Given the description of an element on the screen output the (x, y) to click on. 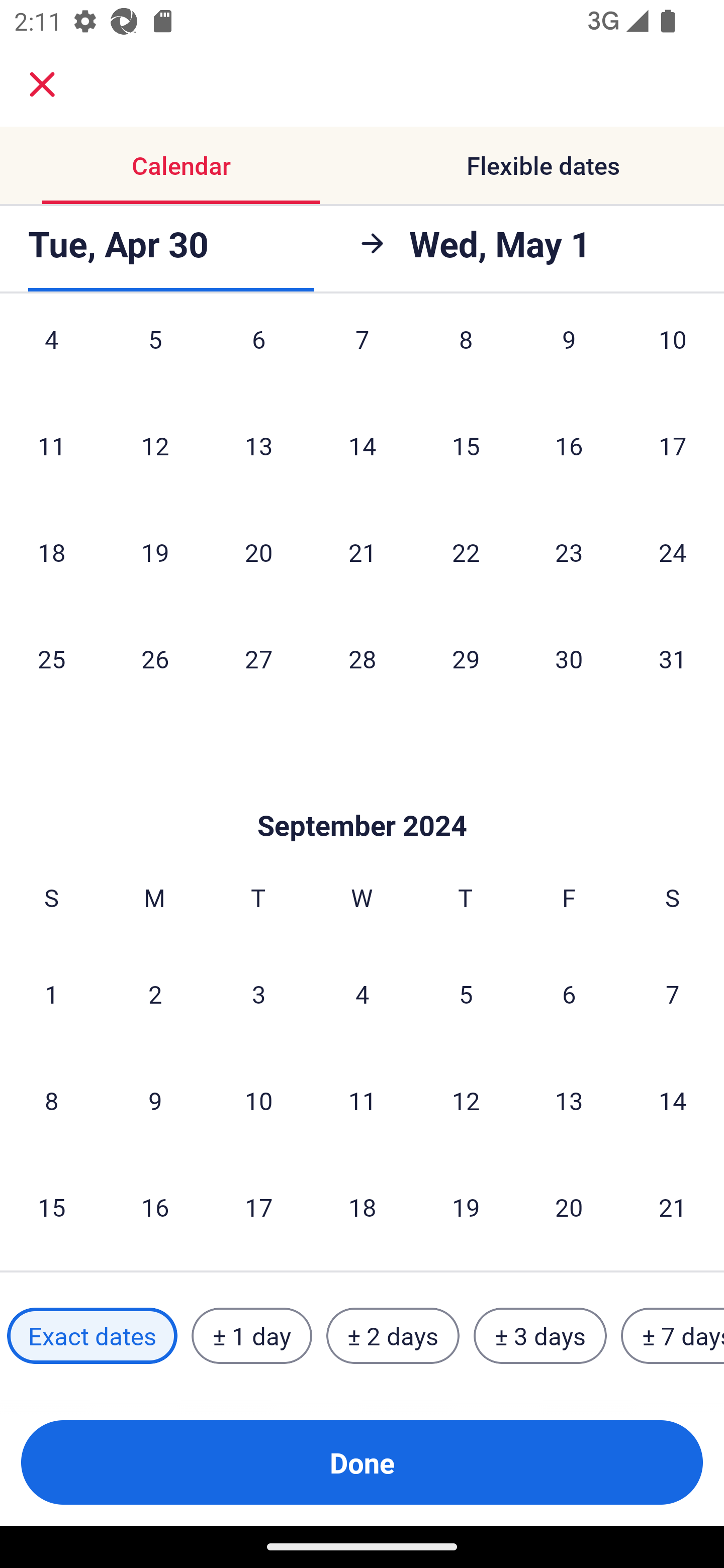
close. (42, 84)
Flexible dates (542, 164)
4 Sunday, August 4, 2024 (51, 355)
5 Monday, August 5, 2024 (155, 355)
6 Tuesday, August 6, 2024 (258, 355)
7 Wednesday, August 7, 2024 (362, 355)
8 Thursday, August 8, 2024 (465, 355)
9 Friday, August 9, 2024 (569, 355)
10 Saturday, August 10, 2024 (672, 355)
11 Sunday, August 11, 2024 (51, 445)
12 Monday, August 12, 2024 (155, 445)
13 Tuesday, August 13, 2024 (258, 445)
14 Wednesday, August 14, 2024 (362, 445)
15 Thursday, August 15, 2024 (465, 445)
16 Friday, August 16, 2024 (569, 445)
17 Saturday, August 17, 2024 (672, 445)
18 Sunday, August 18, 2024 (51, 551)
19 Monday, August 19, 2024 (155, 551)
20 Tuesday, August 20, 2024 (258, 551)
21 Wednesday, August 21, 2024 (362, 551)
22 Thursday, August 22, 2024 (465, 551)
23 Friday, August 23, 2024 (569, 551)
24 Saturday, August 24, 2024 (672, 551)
25 Sunday, August 25, 2024 (51, 658)
26 Monday, August 26, 2024 (155, 658)
27 Tuesday, August 27, 2024 (258, 658)
28 Wednesday, August 28, 2024 (362, 658)
29 Thursday, August 29, 2024 (465, 658)
30 Friday, August 30, 2024 (569, 658)
31 Saturday, August 31, 2024 (672, 658)
Skip to Done (362, 794)
1 Sunday, September 1, 2024 (51, 993)
2 Monday, September 2, 2024 (155, 993)
3 Tuesday, September 3, 2024 (258, 993)
4 Wednesday, September 4, 2024 (362, 993)
5 Thursday, September 5, 2024 (465, 993)
6 Friday, September 6, 2024 (569, 993)
7 Saturday, September 7, 2024 (672, 993)
8 Sunday, September 8, 2024 (51, 1100)
9 Monday, September 9, 2024 (155, 1100)
10 Tuesday, September 10, 2024 (258, 1100)
11 Wednesday, September 11, 2024 (362, 1100)
12 Thursday, September 12, 2024 (465, 1100)
13 Friday, September 13, 2024 (569, 1100)
14 Saturday, September 14, 2024 (672, 1100)
15 Sunday, September 15, 2024 (51, 1207)
16 Monday, September 16, 2024 (155, 1207)
17 Tuesday, September 17, 2024 (258, 1207)
18 Wednesday, September 18, 2024 (362, 1207)
19 Thursday, September 19, 2024 (465, 1207)
20 Friday, September 20, 2024 (569, 1207)
21 Saturday, September 21, 2024 (672, 1207)
Exact dates (92, 1335)
± 1 day (251, 1335)
± 2 days (392, 1335)
± 3 days (539, 1335)
± 7 days (672, 1335)
Done (361, 1462)
